Given the description of an element on the screen output the (x, y) to click on. 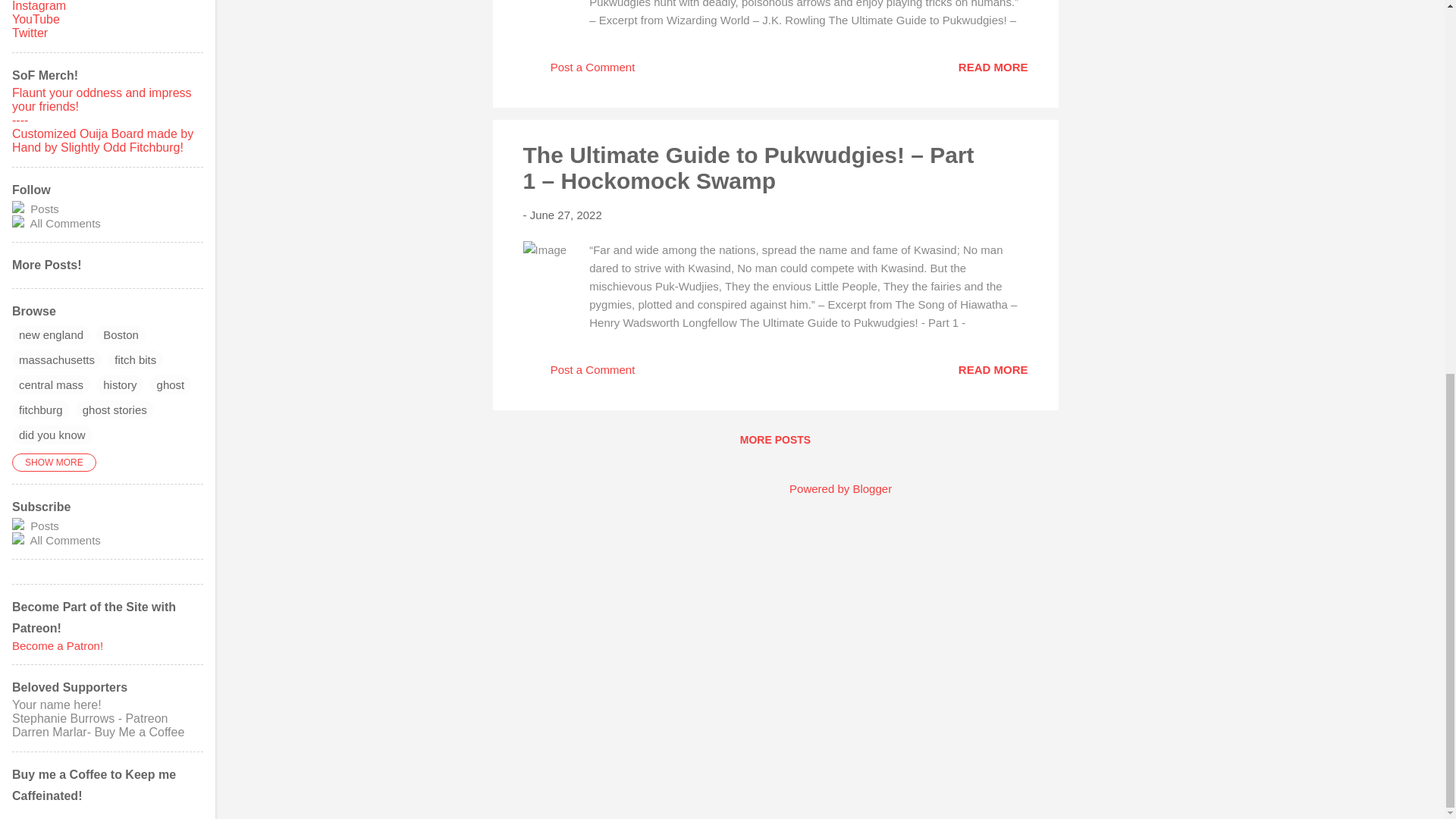
READ MORE (992, 369)
Post a Comment (578, 72)
Post a Comment (578, 374)
Powered by Blogger (829, 488)
MORE POSTS (774, 439)
READ MORE (992, 66)
June 27, 2022 (565, 214)
Instagram (38, 6)
